Given the description of an element on the screen output the (x, y) to click on. 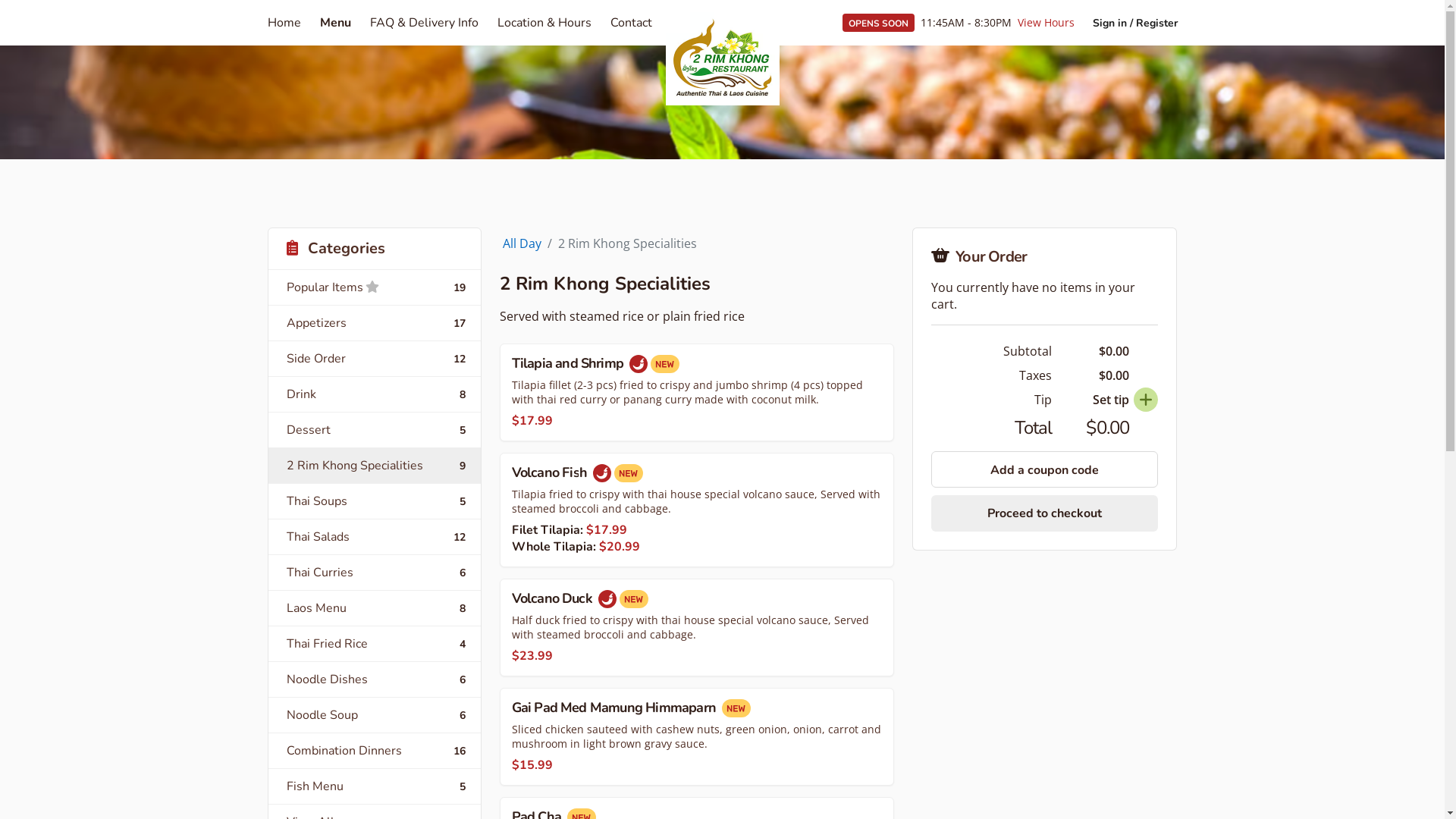
Noodle Dishes
6 Element type: text (374, 678)
Volcano Fish Element type: text (697, 509)
Contact Element type: text (630, 22)
Sign in / Register Element type: text (1134, 22)
Home Element type: text (283, 22)
Drink
8 Element type: text (374, 393)
Appetizers
17 Element type: text (374, 322)
Volcano Duck Element type: text (697, 627)
Dessert
5 Element type: text (374, 429)
Thai Fried Rice
4 Element type: text (374, 643)
Popular Items
19 Element type: text (374, 286)
Noodle Soup
6 Element type: text (374, 714)
All Day Element type: text (521, 243)
Add a coupon code Element type: text (1044, 469)
Tilapia and Shrimp Element type: text (697, 392)
Laos Menu
8 Element type: text (374, 607)
Menu Element type: text (335, 22)
Thai Curries
6 Element type: text (374, 571)
Gai Pad Med Mamung Himmaparn Element type: text (697, 736)
Thai Soups
5 Element type: text (374, 500)
Side Order
12 Element type: text (374, 358)
FAQ & Delivery Info Element type: text (424, 22)
Combination Dinners
16 Element type: text (374, 750)
Location & Hours Element type: text (544, 22)
Thai Salads
12 Element type: text (374, 536)
Fish Menu
5 Element type: text (374, 785)
View Hours Element type: text (1045, 22)
2 Rim Khong Specialities
9 Element type: text (374, 465)
Proceed to checkout Element type: text (1044, 513)
